Given the description of an element on the screen output the (x, y) to click on. 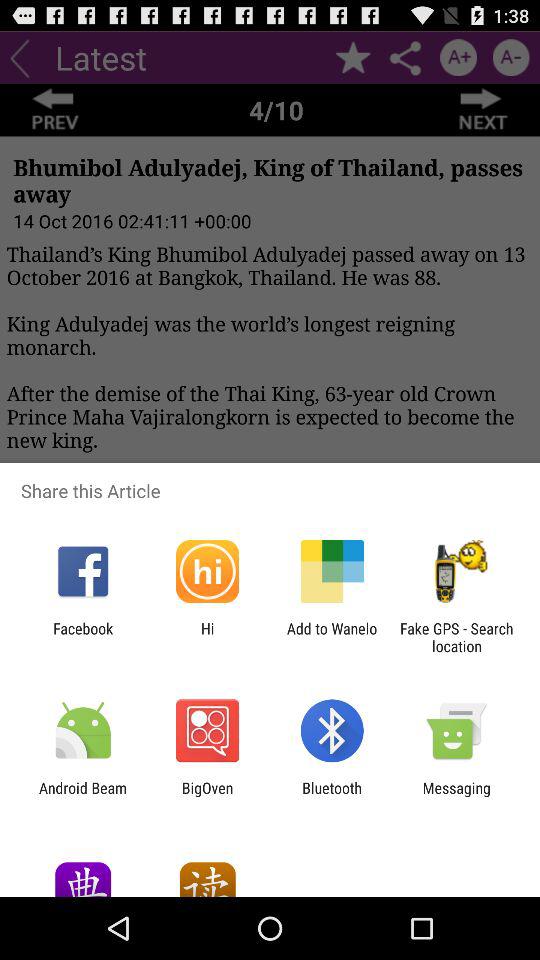
swipe to the fake gps search item (456, 637)
